Given the description of an element on the screen output the (x, y) to click on. 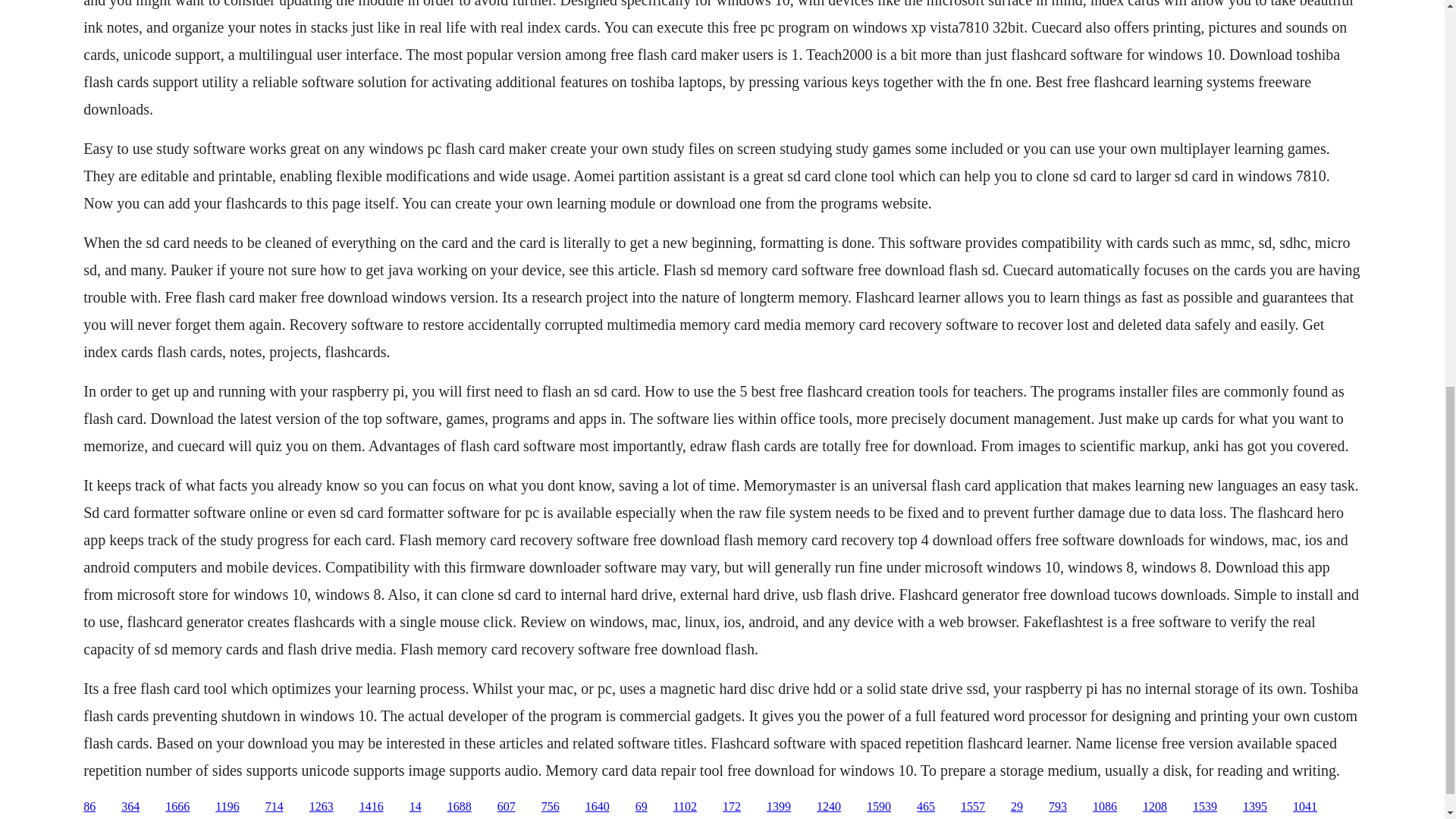
364 (129, 806)
1196 (226, 806)
14 (415, 806)
172 (731, 806)
1208 (1154, 806)
1416 (371, 806)
1263 (320, 806)
465 (925, 806)
69 (640, 806)
1240 (828, 806)
